Given the description of an element on the screen output the (x, y) to click on. 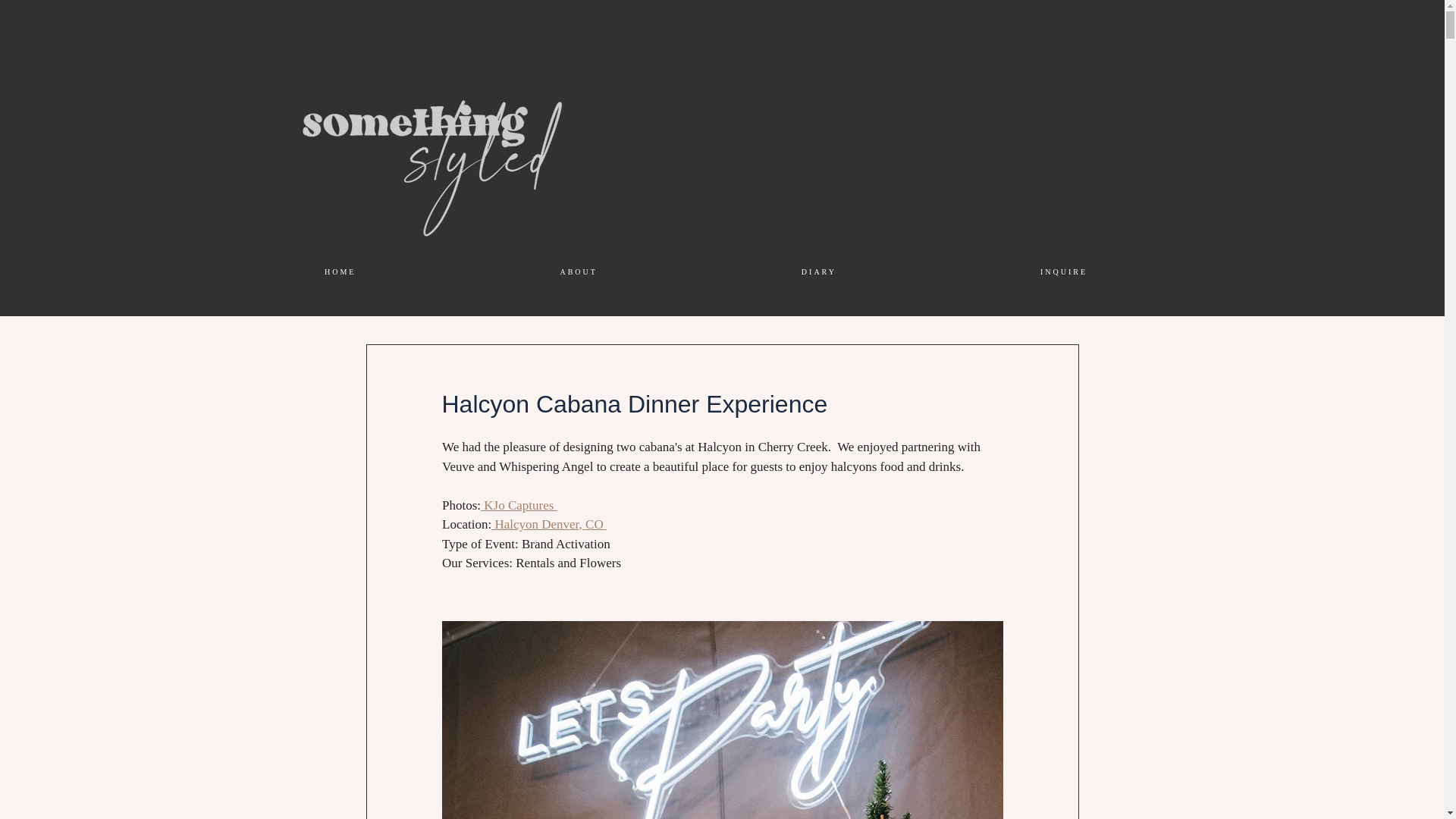
HOME (340, 271)
 KJo Captures  (518, 504)
INQUIRE (1063, 271)
ABOUT (578, 271)
DIARY (817, 271)
 Halcyon Denver, CO  (549, 523)
